Given the description of an element on the screen output the (x, y) to click on. 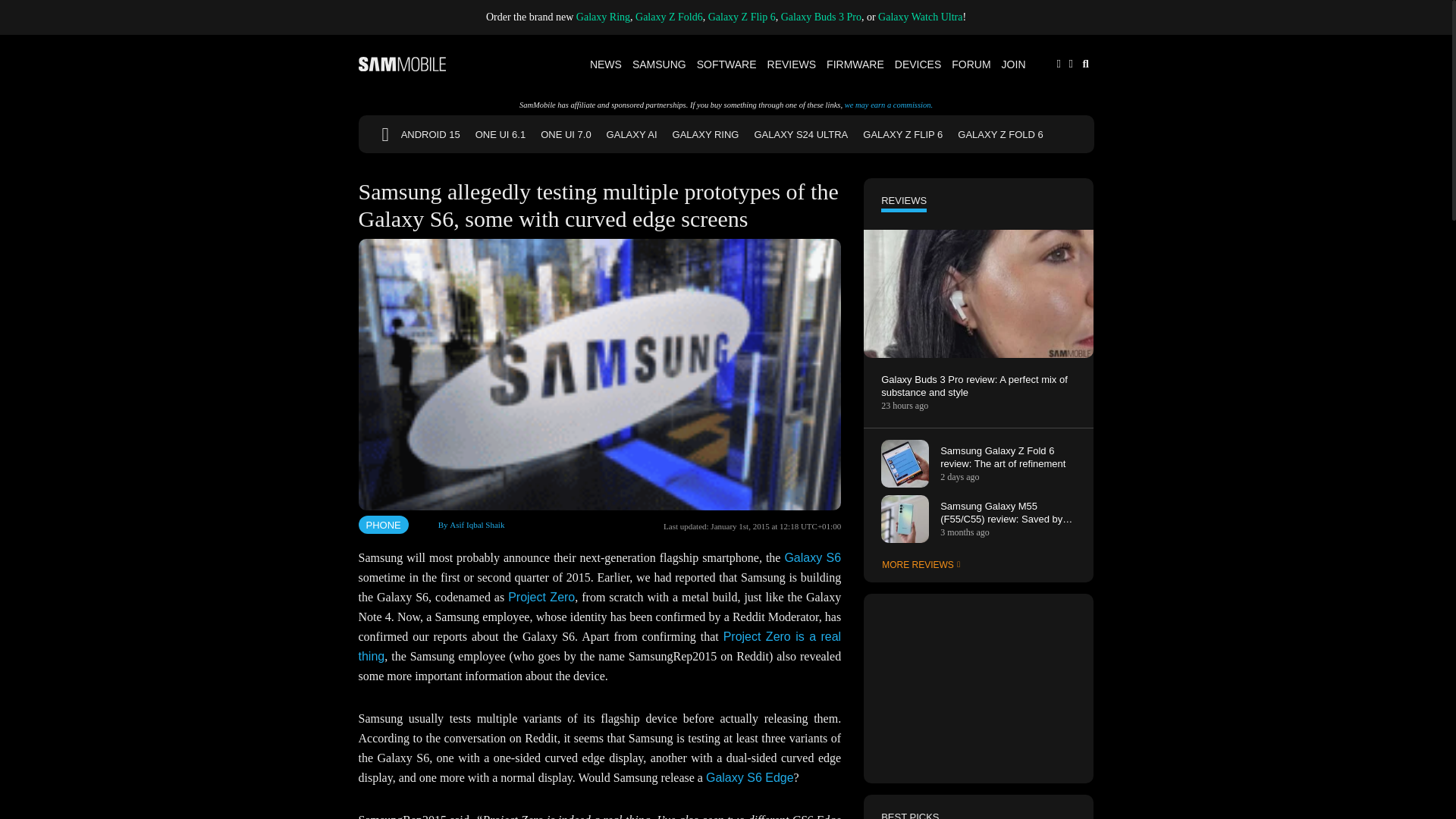
Galaxy Ring (603, 16)
Samsung (659, 64)
Galaxy Watch Ultra (919, 16)
Galaxy Buds 3 Pro (820, 16)
SAMSUNG (659, 64)
Galaxy Z Fold6 (668, 16)
SamMobile logo (401, 63)
Galaxy Z Flip 6 (741, 16)
